Given the description of an element on the screen output the (x, y) to click on. 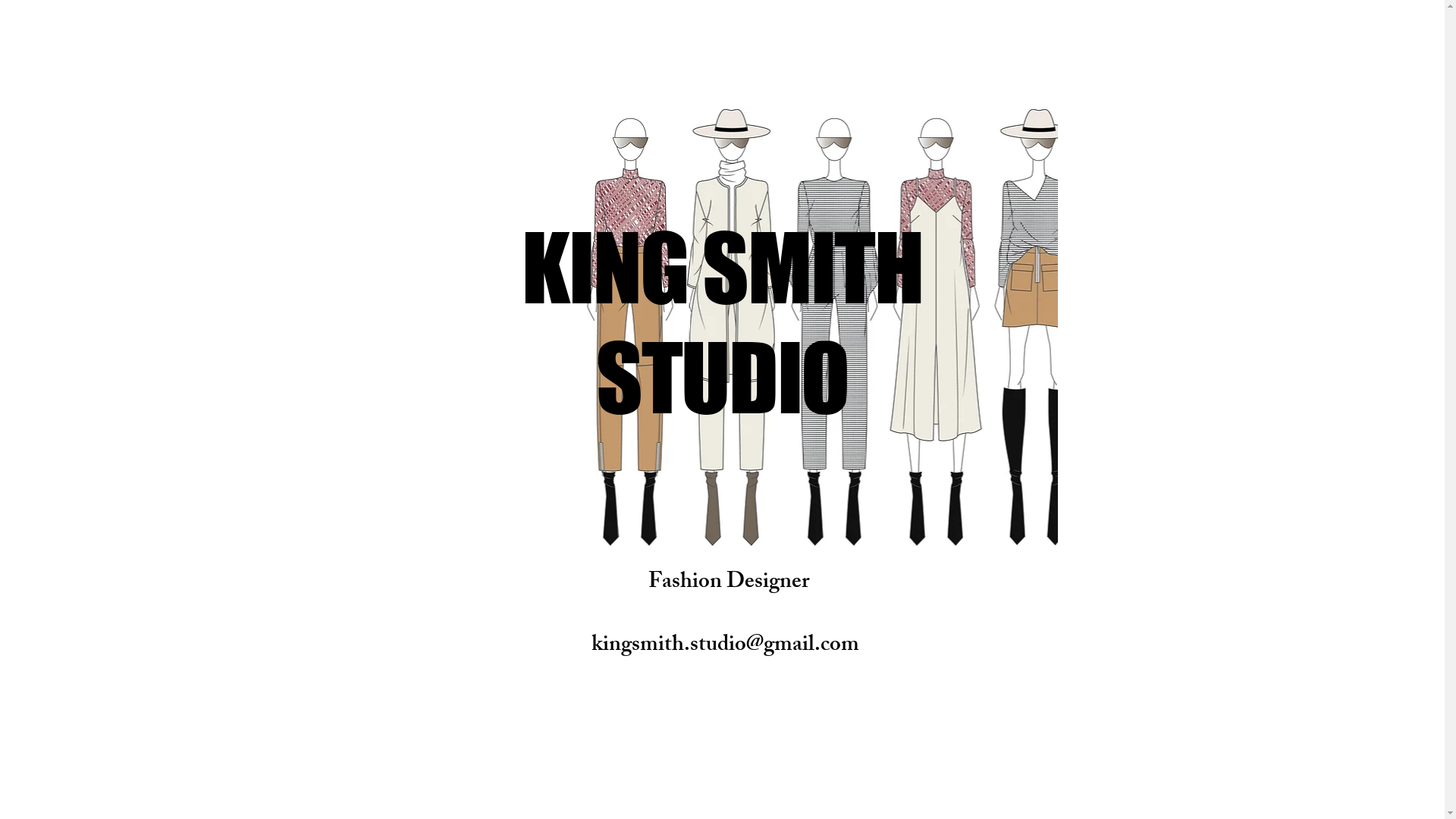
KING SMITH
STUDIO Element type: text (721, 322)
Fashion Designer Element type: text (727, 583)
kingsmith.studio@gmail.com Element type: text (725, 646)
